Given the description of an element on the screen output the (x, y) to click on. 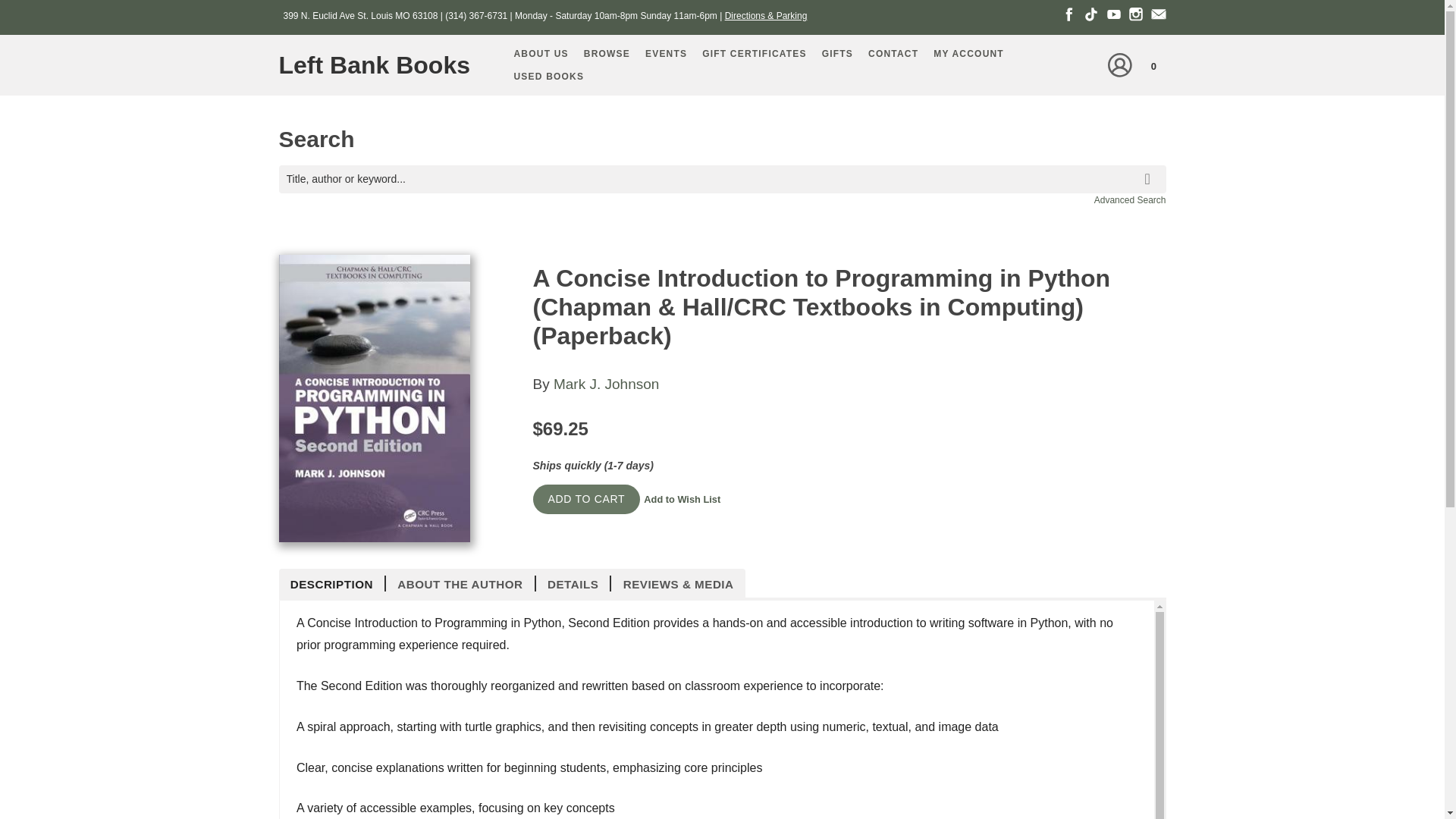
EVENTS (665, 53)
Left Bank Books (381, 64)
BROWSE (606, 53)
search (1150, 167)
T-Shirts, Gifts and More (836, 53)
GIFTS (836, 53)
GIFT CERTIFICATES (753, 53)
ABOUT US (541, 53)
Home (381, 64)
